Given the description of an element on the screen output the (x, y) to click on. 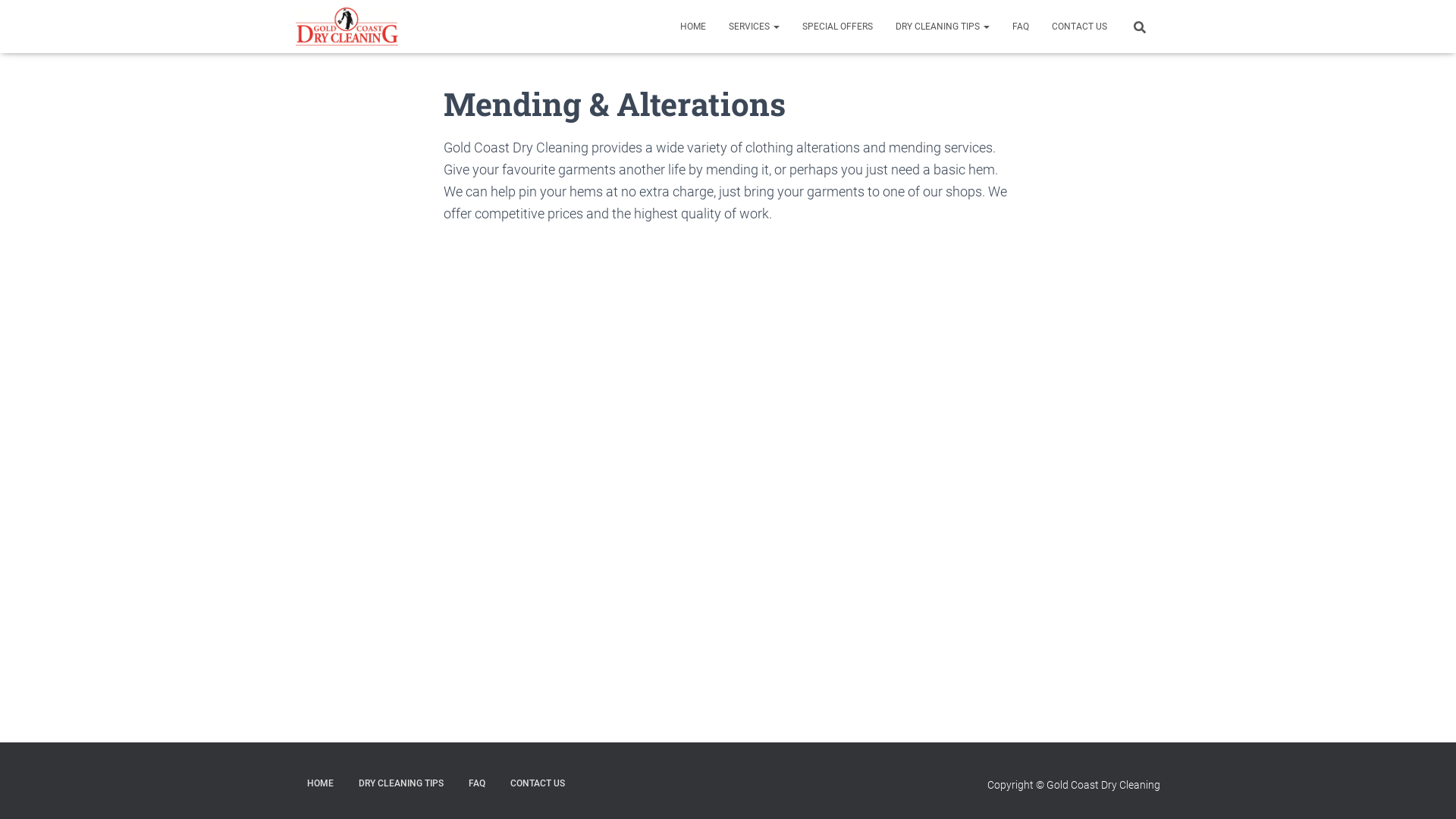
HOME Element type: text (320, 783)
CONTACT US Element type: text (1079, 26)
Gold Coast Dry Cleaning Specialists Element type: hover (346, 26)
CONTACT US Element type: text (537, 783)
SERVICES Element type: text (753, 26)
DRY CLEANING TIPS Element type: text (401, 783)
HOME Element type: text (692, 26)
DRY CLEANING TIPS Element type: text (942, 26)
SPECIAL OFFERS Element type: text (837, 26)
Search Element type: text (3, 16)
FAQ Element type: text (1020, 26)
FAQ Element type: text (476, 783)
